Given the description of an element on the screen output the (x, y) to click on. 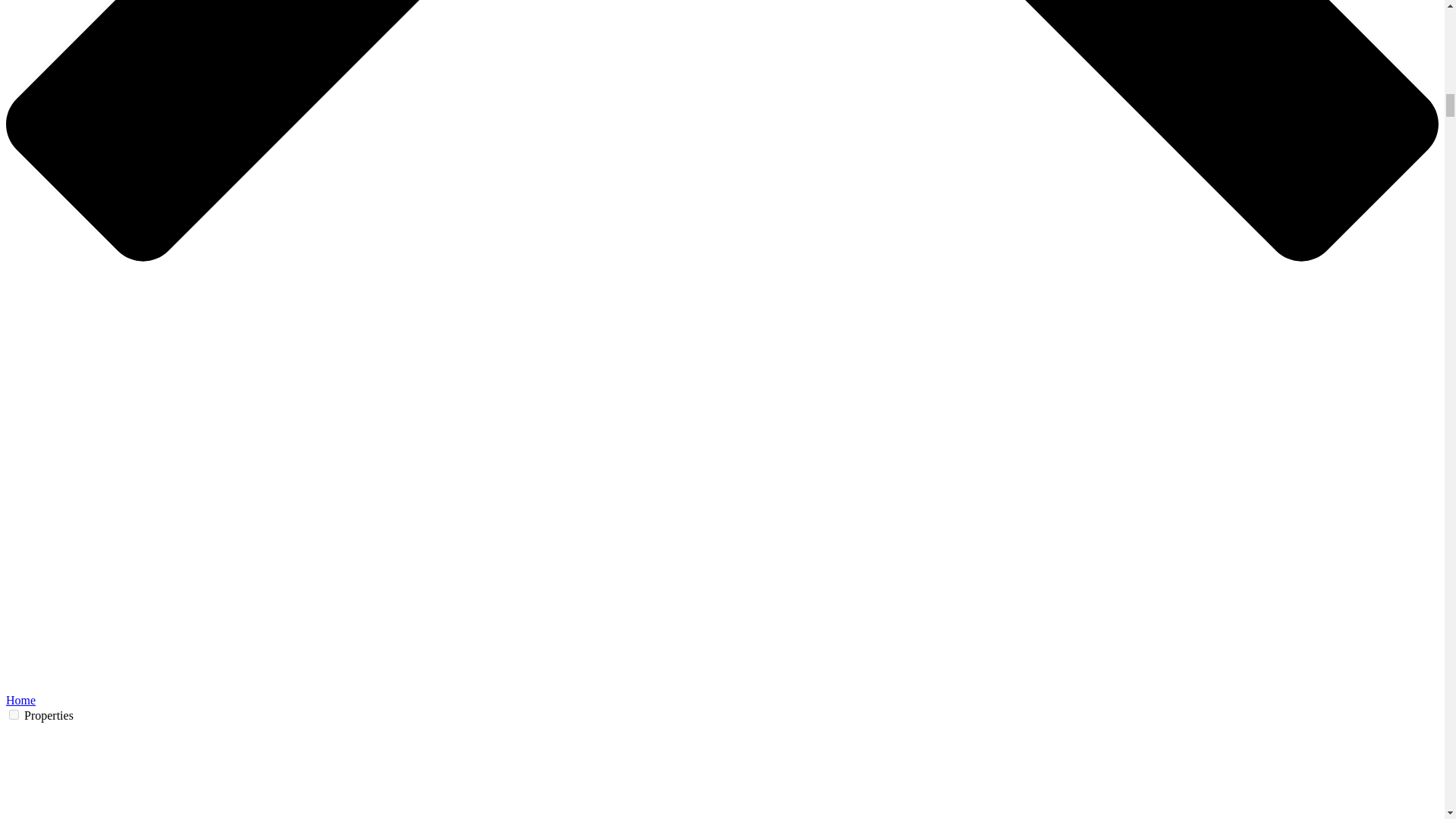
1Property instagram page (916, 472)
Favourites (1118, 51)
Contact (721, 468)
Residential, commercial property for sale Upper Highway (442, 51)
News (931, 51)
Home (674, 51)
27 Old Main Road, Gillitts (436, 468)
Favourites (1118, 51)
1Property facebook page (888, 472)
Privacy Policy (721, 497)
031 762 4560 (436, 497)
our search (686, 327)
Contact (1069, 51)
